Given the description of an element on the screen output the (x, y) to click on. 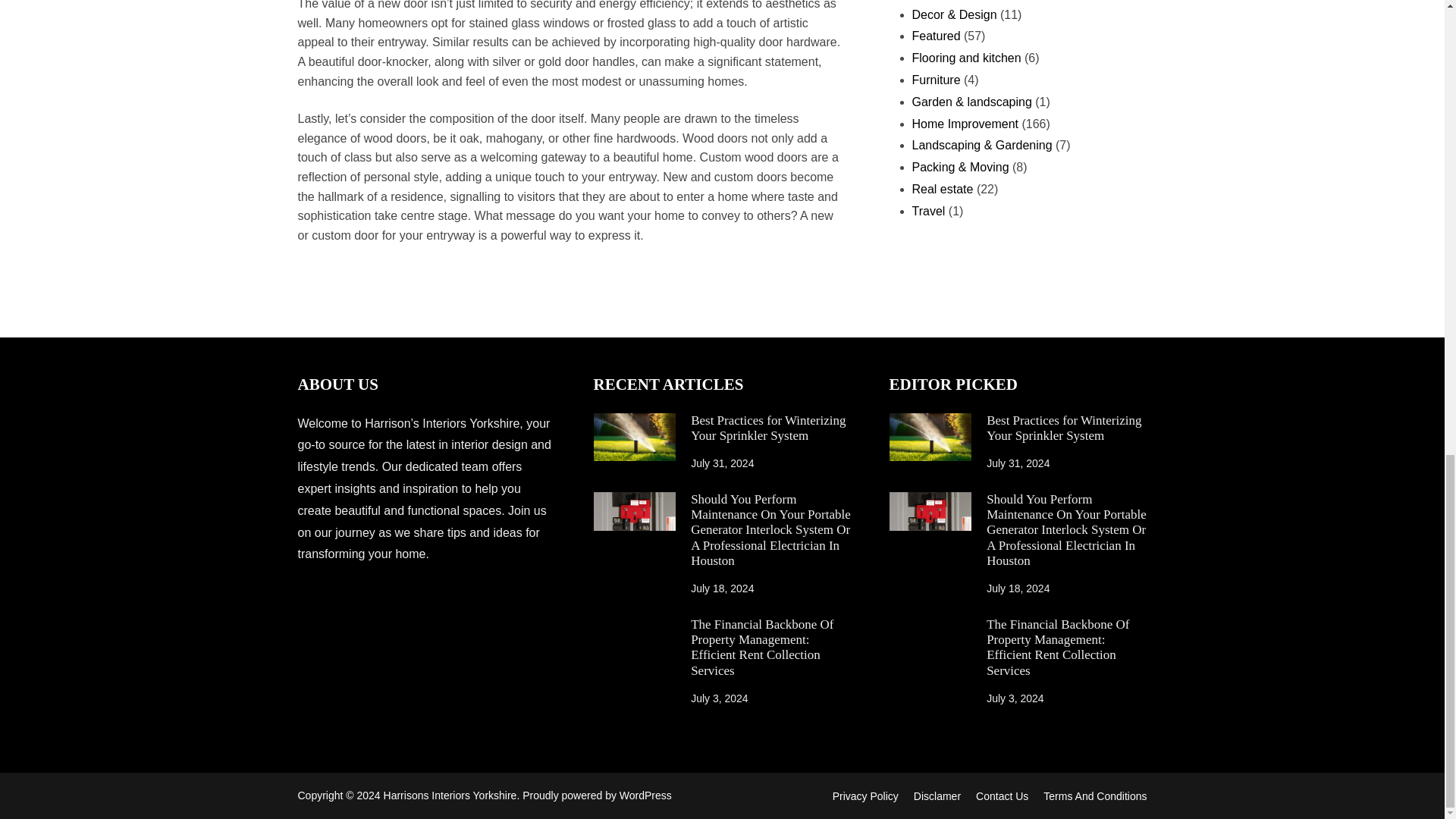
Real estate (941, 188)
Home Improvement (964, 123)
Travel (927, 210)
Harrisons Interiors Yorkshire (450, 795)
Featured (935, 35)
Furniture (935, 79)
Flooring and kitchen (965, 57)
